Given the description of an element on the screen output the (x, y) to click on. 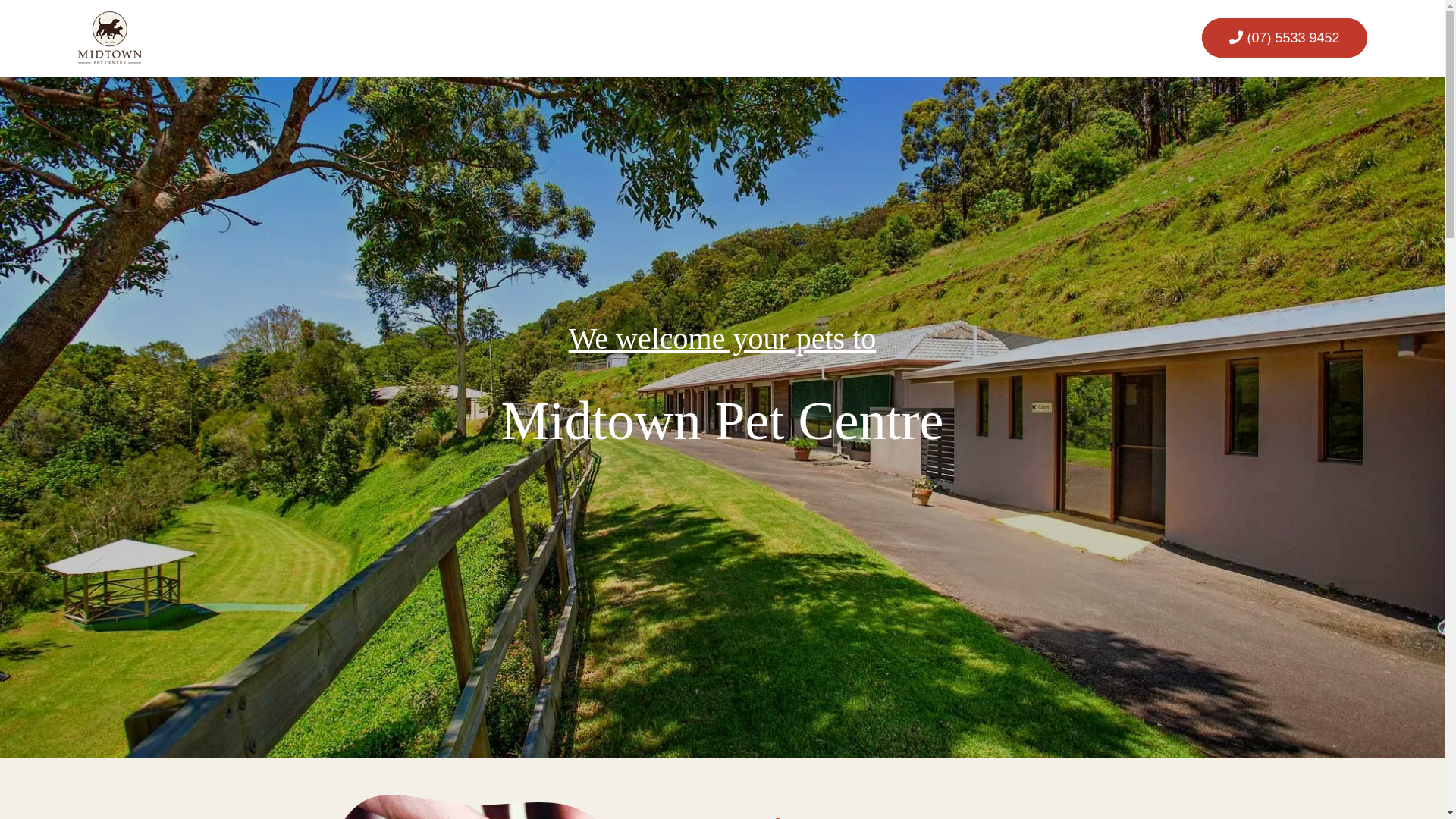
(07) 5533 9452 Element type: text (1283, 37)
